Given the description of an element on the screen output the (x, y) to click on. 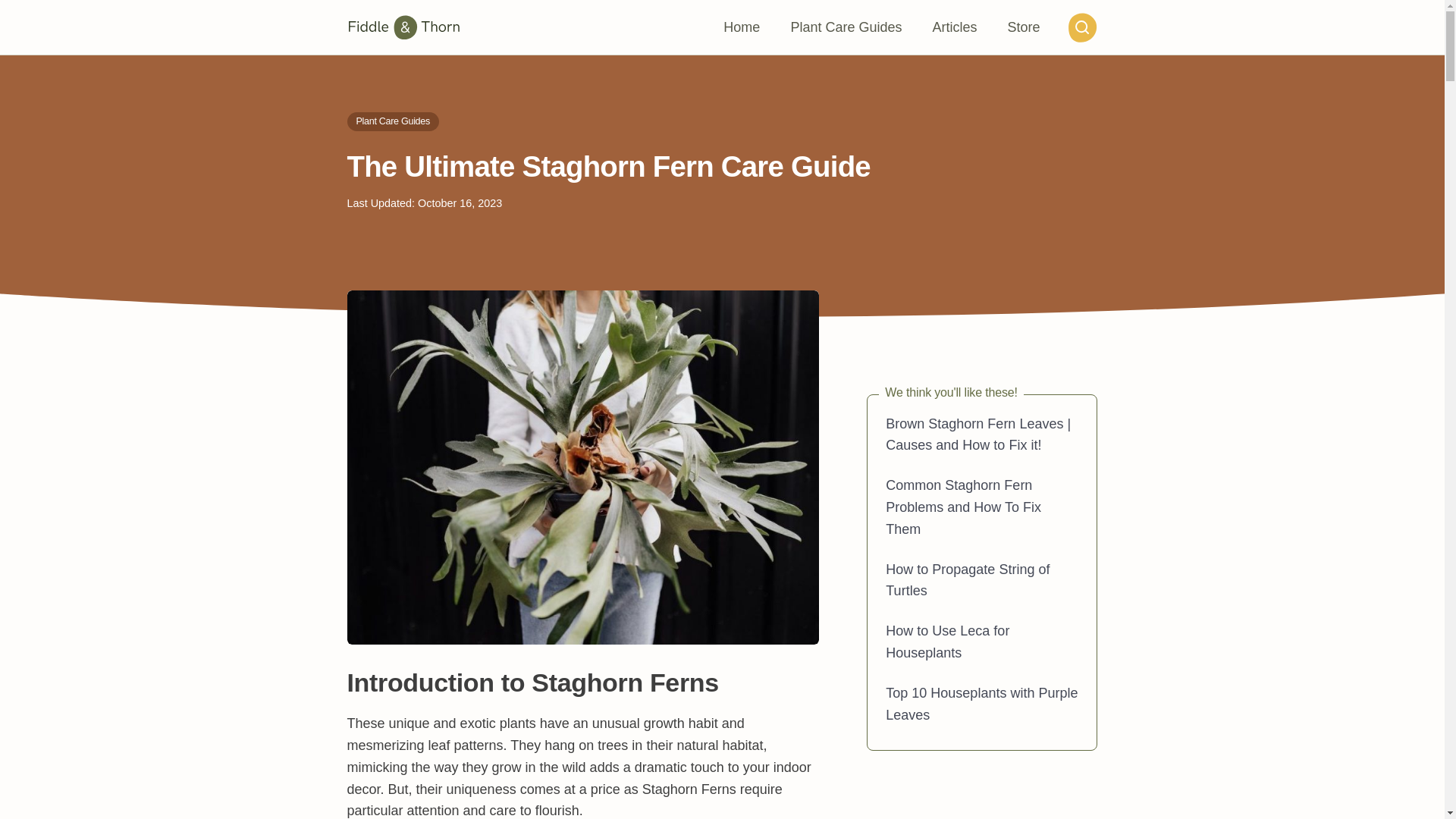
Top 10 Houseplants with Purple Leaves (981, 703)
Plant Care Guides (845, 26)
Plant Care Guides (393, 121)
Articles (954, 26)
Home (741, 26)
How to Propagate String of Turtles (967, 579)
How to Use Leca for Houseplants (947, 641)
Common Staghorn Fern Problems and How To Fix Them (963, 507)
Store (1022, 26)
